Given the description of an element on the screen output the (x, y) to click on. 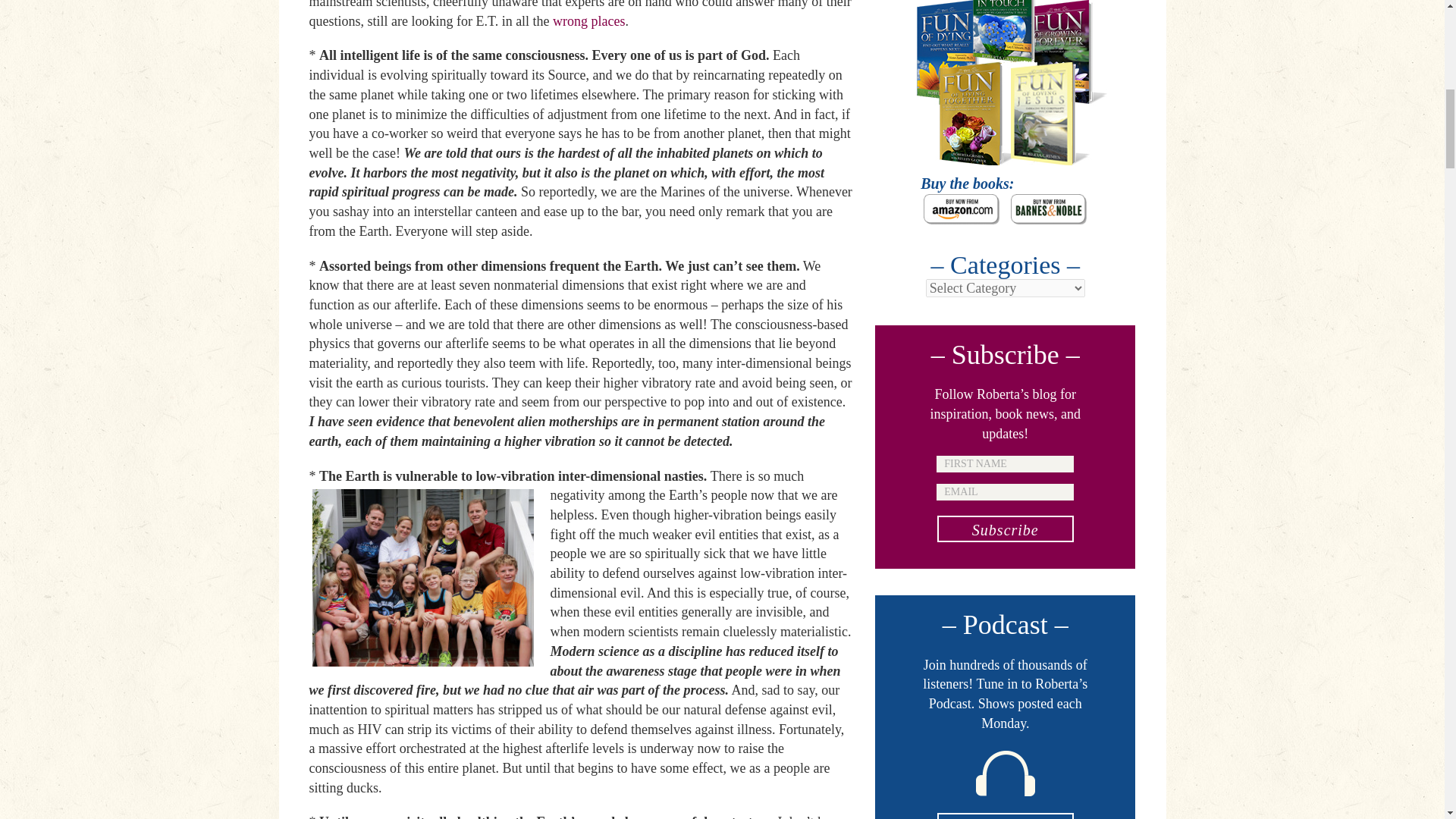
Subscribe (1005, 528)
wrong places (588, 20)
